Given the description of an element on the screen output the (x, y) to click on. 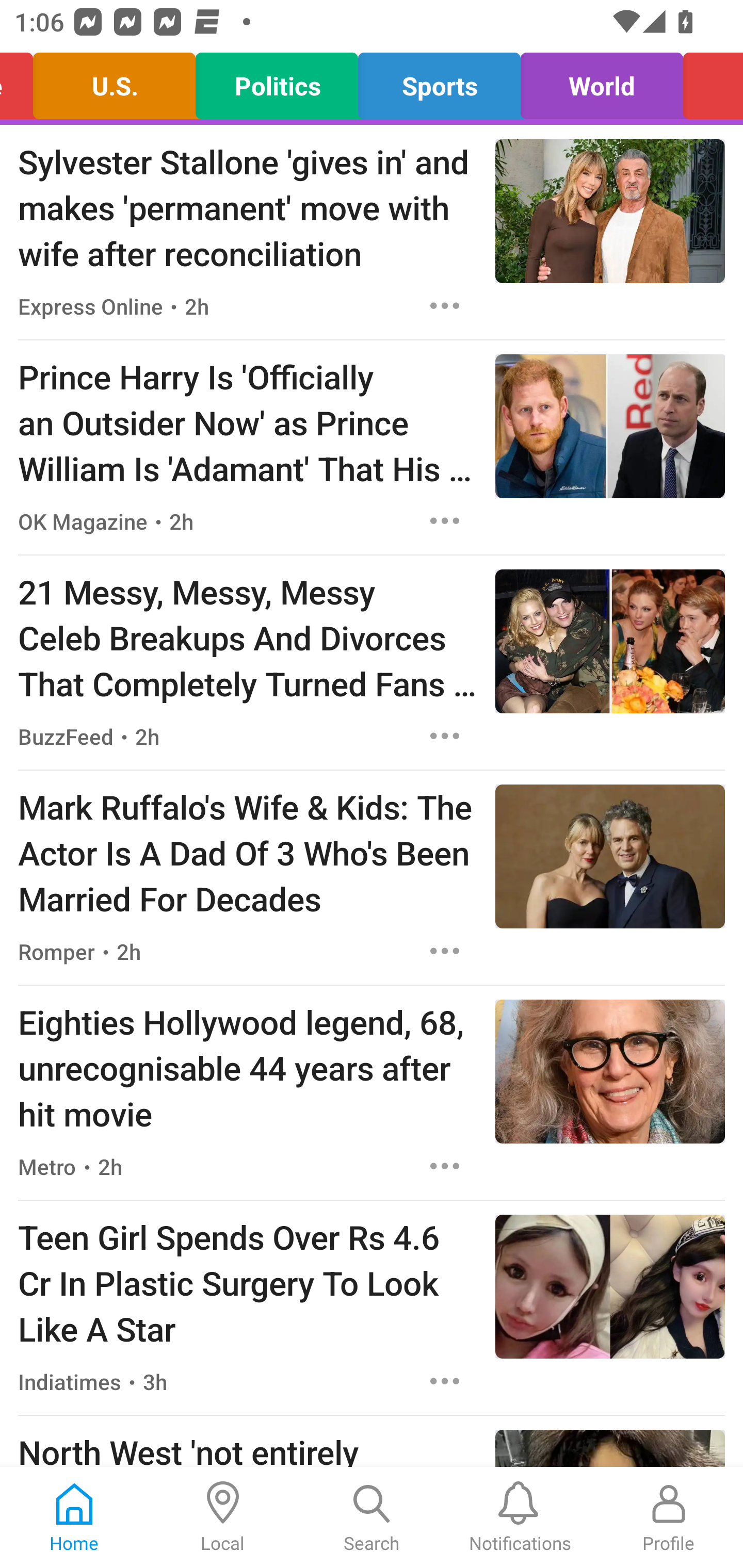
U.S. (114, 81)
Politics (277, 81)
Sports (438, 81)
World (601, 81)
Options (444, 305)
Options (444, 520)
Options (444, 736)
Options (444, 950)
Options (444, 1166)
Options (444, 1381)
Local (222, 1517)
Search (371, 1517)
Notifications (519, 1517)
Profile (668, 1517)
